Given the description of an element on the screen output the (x, y) to click on. 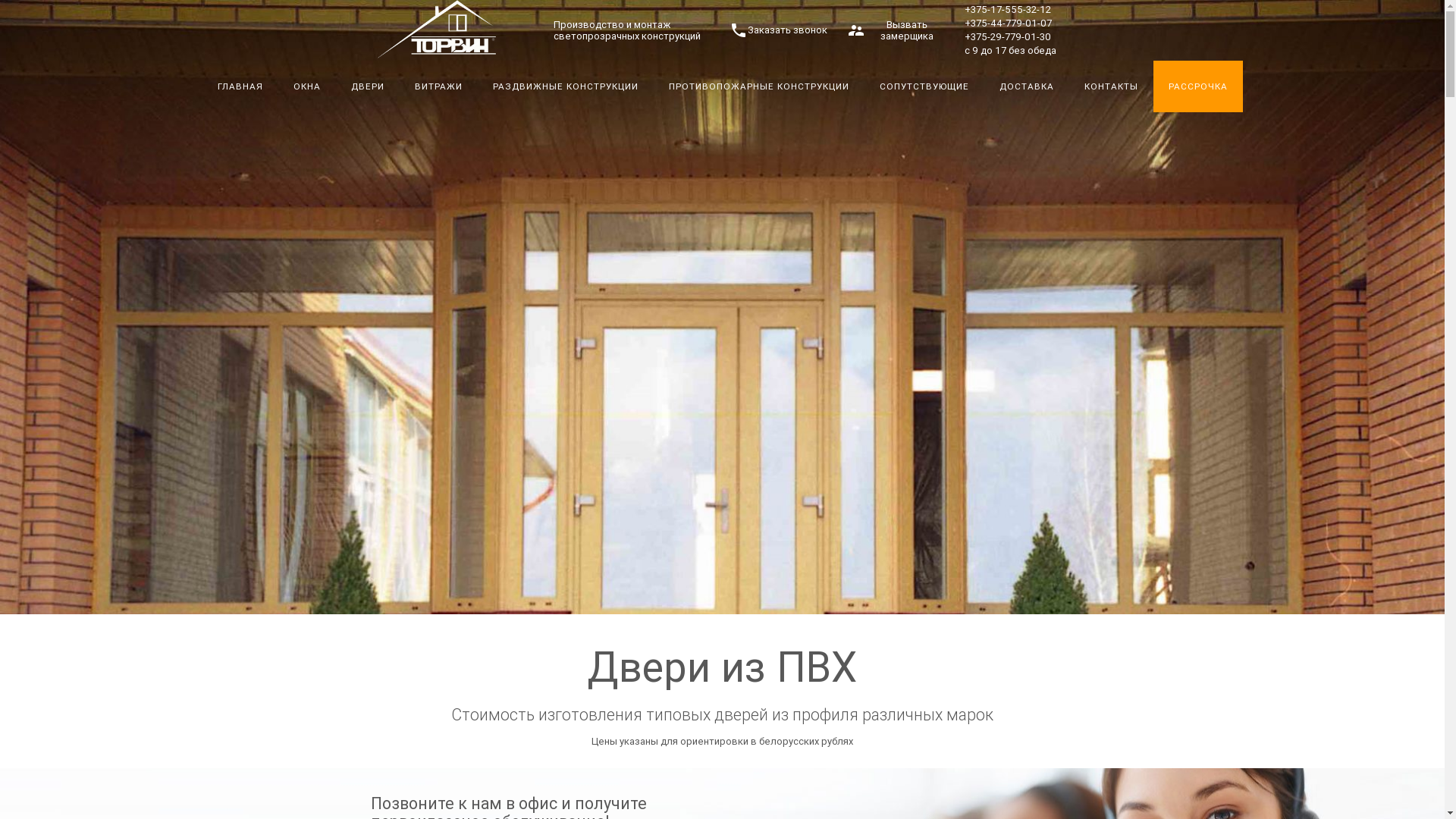
+375-44-779-01-07 Element type: text (1007, 22)
+375-17-555-32-12 Element type: text (1007, 9)
+375-29-779-01-30 Element type: text (1007, 36)
